Given the description of an element on the screen output the (x, y) to click on. 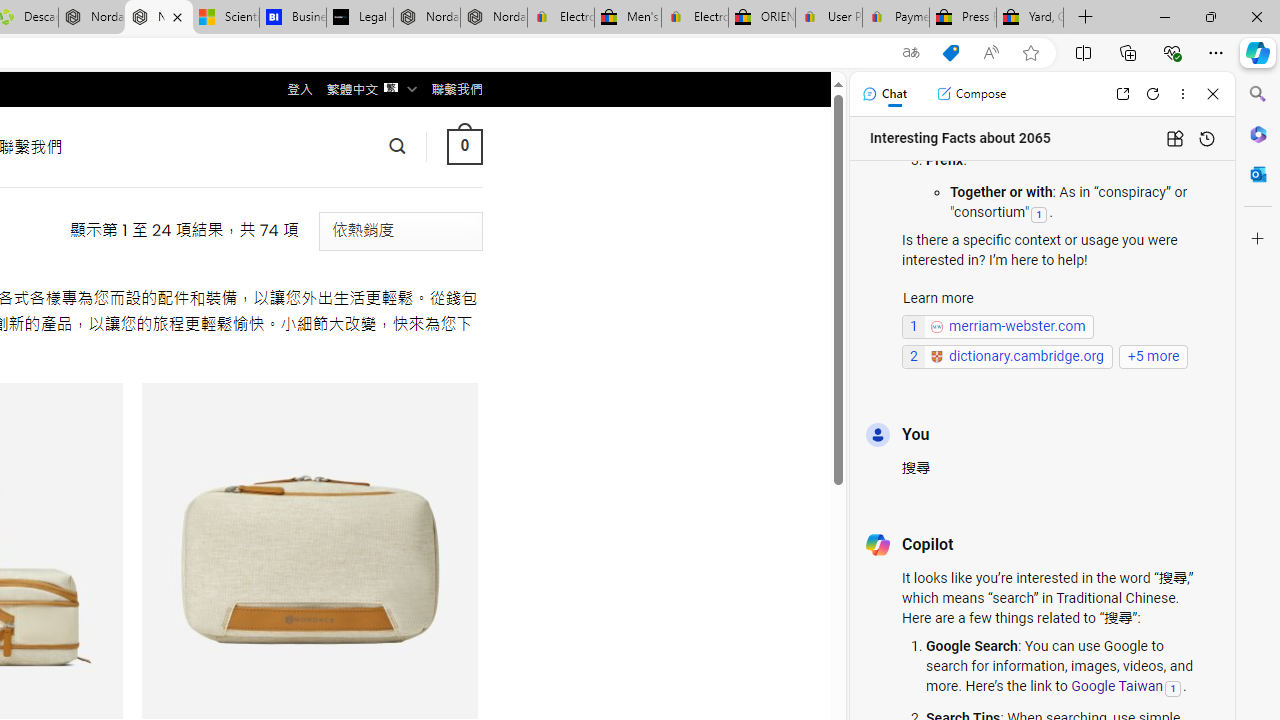
Yard, Garden & Outdoor Living (1030, 17)
